Given the description of an element on the screen output the (x, y) to click on. 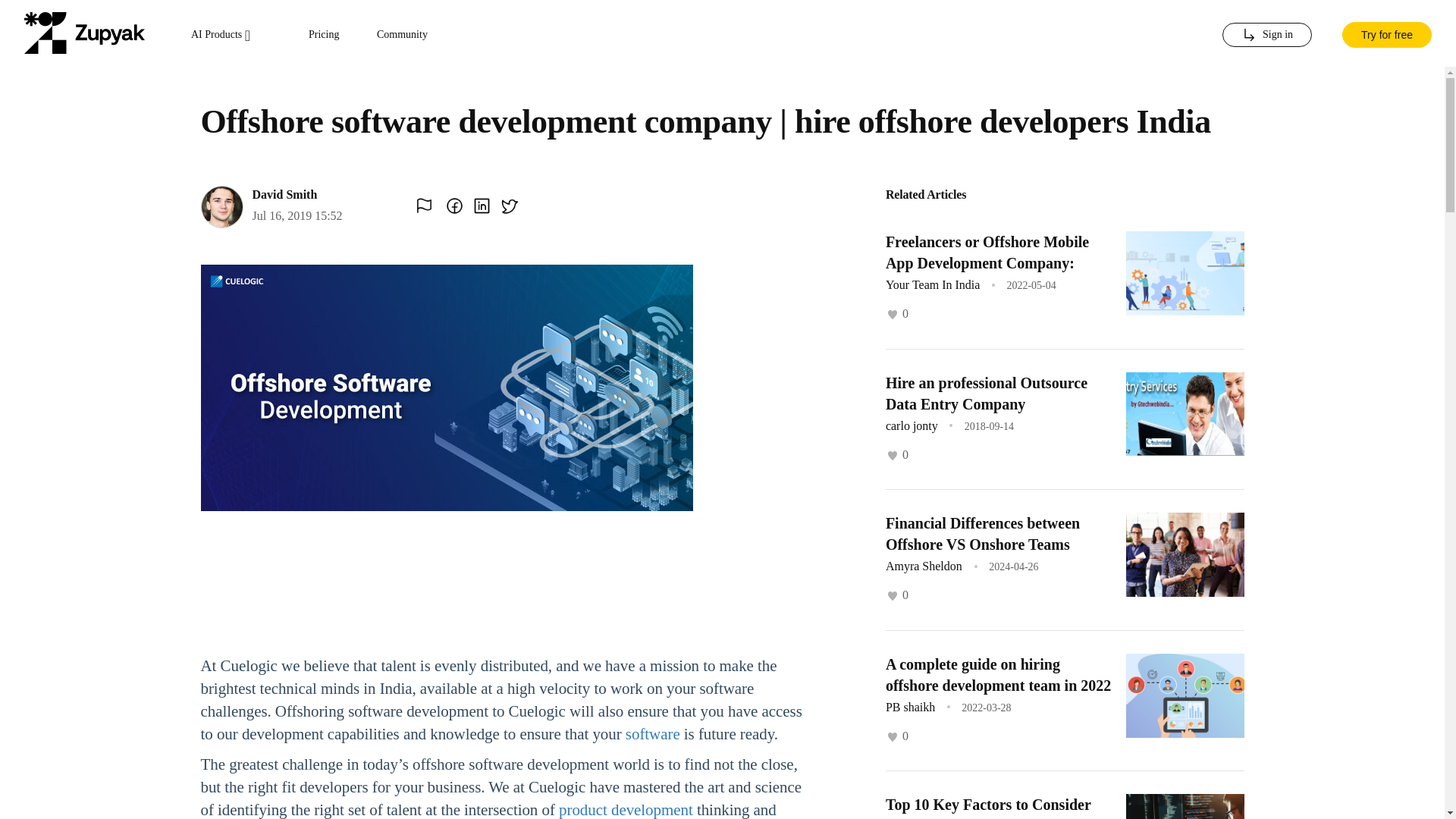
Community (402, 34)
product development (626, 809)
software (652, 733)
Pricing (323, 34)
 Sign in (1267, 34)
Financial Differences between Offshore VS Onshore Teams (982, 533)
Hire an professional Outsource Data Entry Company (986, 393)
Try for free (1386, 33)
